Given the description of an element on the screen output the (x, y) to click on. 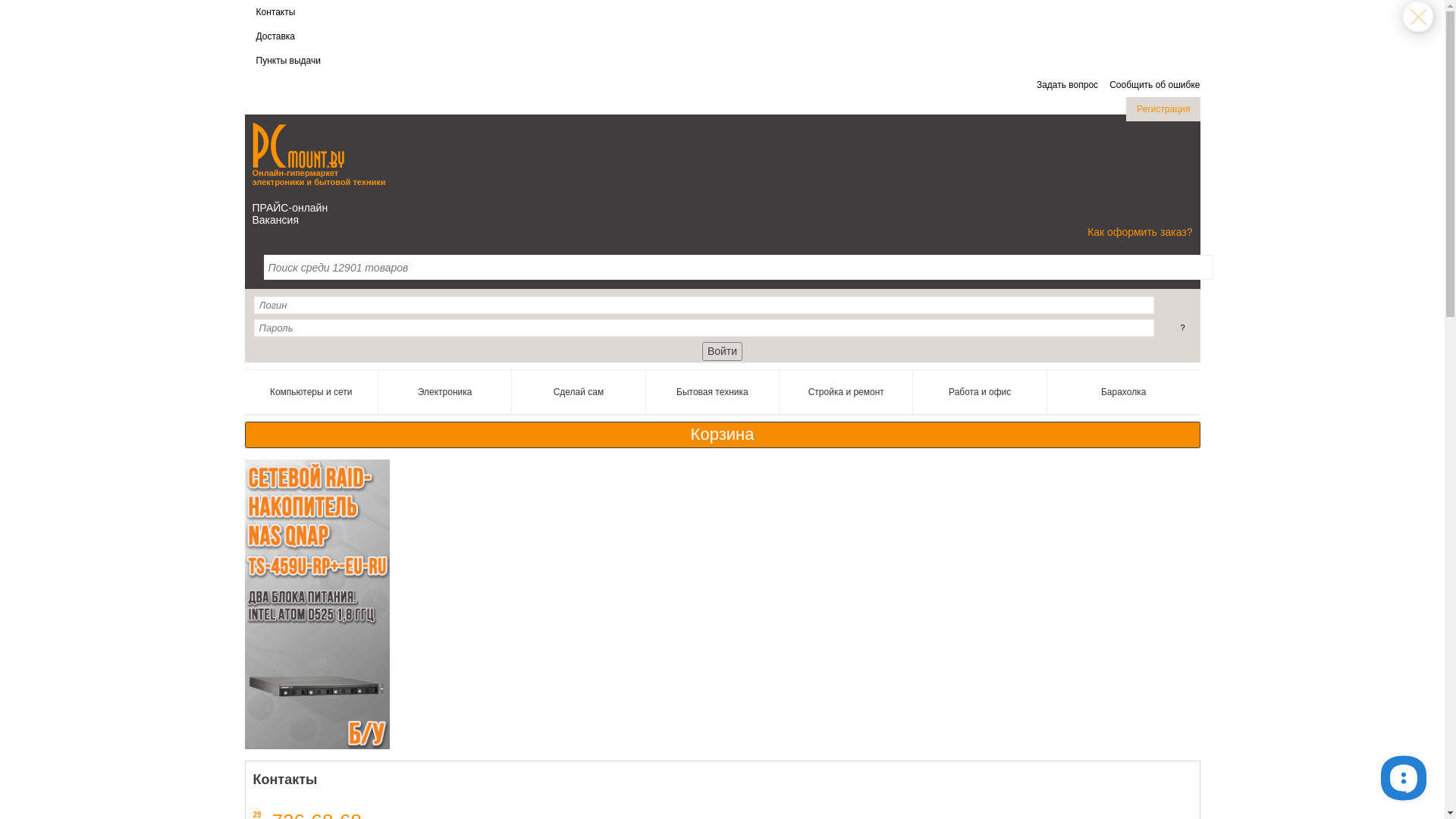
Network Storage NAS QNAP Element type: hover (316, 604)
? Element type: text (1181, 327)
__replain_widget_iframe Element type: hover (1402, 776)
PCmount Element type: hover (297, 145)
